Given the description of an element on the screen output the (x, y) to click on. 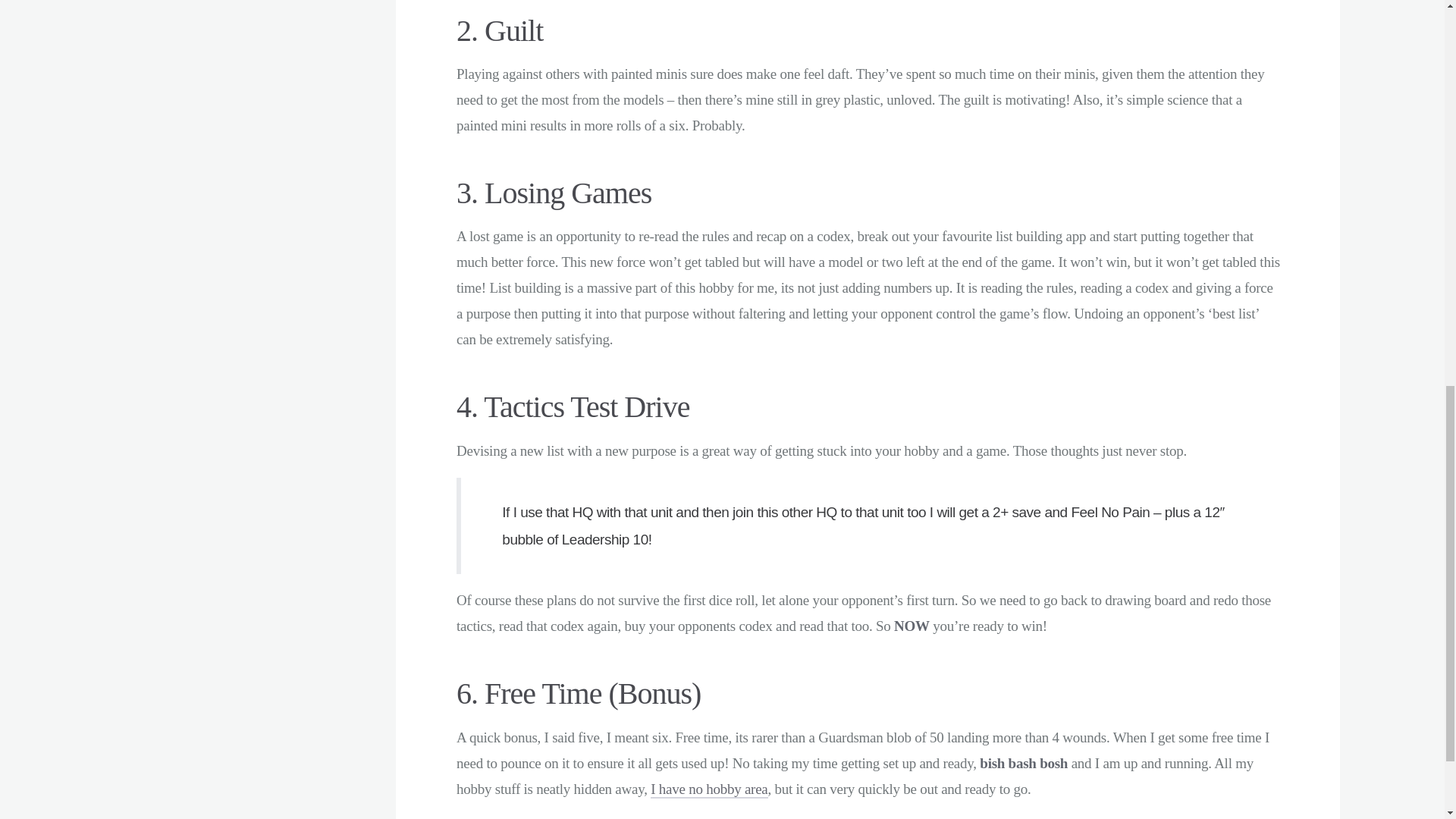
I have no hobby area (708, 789)
SUBSCRIBE (229, 6)
